Given the description of an element on the screen output the (x, y) to click on. 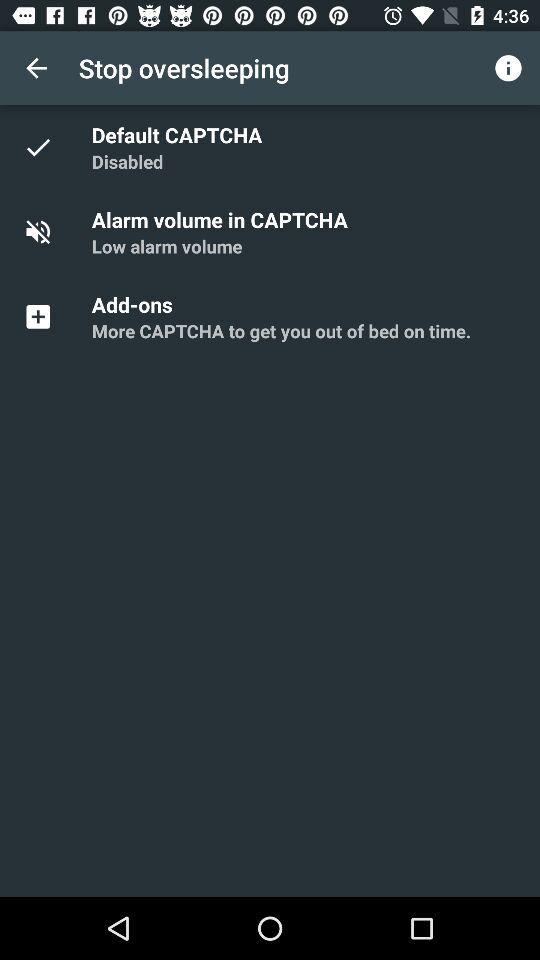
launch icon to the right of the stop oversleeping item (508, 67)
